Given the description of an element on the screen output the (x, y) to click on. 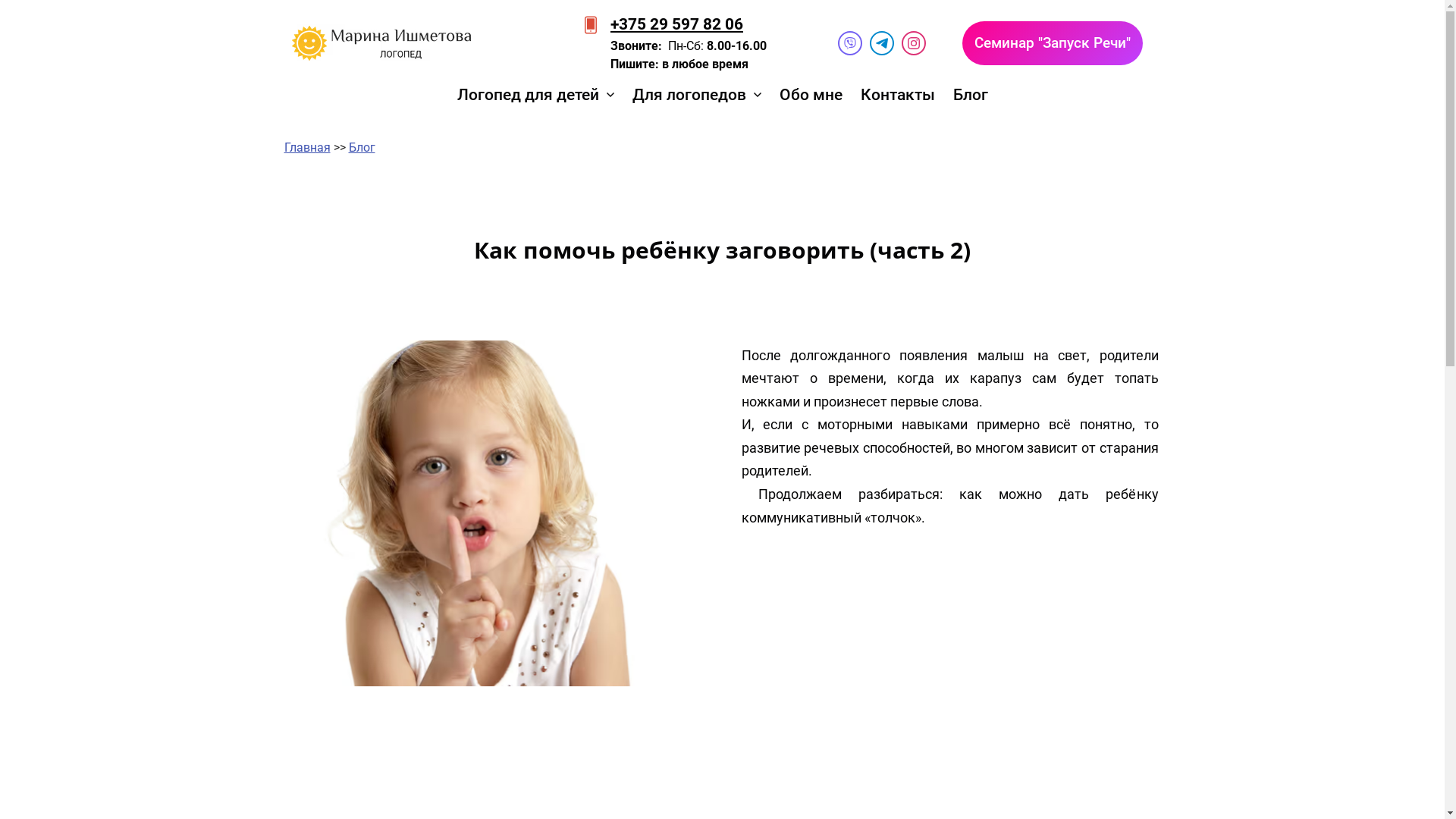
+375 29 597 82 06 Element type: text (676, 24)
